Given the description of an element on the screen output the (x, y) to click on. 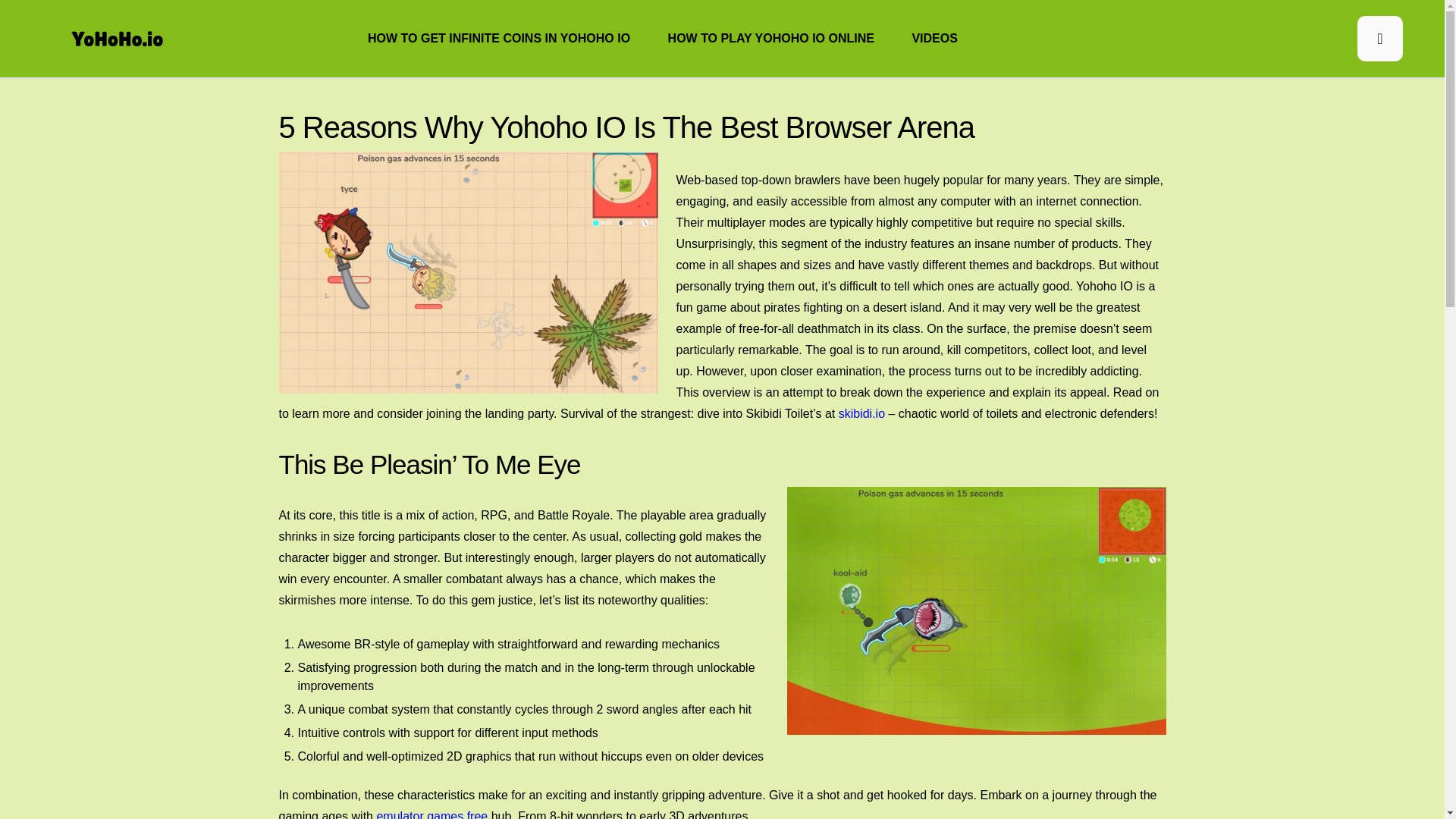
How to Get Infinite Coins in Yohoho IO (499, 38)
HOW TO GET INFINITE COINS IN YOHOHO IO (499, 38)
HOW TO PLAY YOHOHO IO ONLINE (771, 38)
How to Play Yohoho IO Online (771, 38)
VIDEOS (933, 38)
skibidi.io (861, 414)
Videos (933, 38)
emulator games free (431, 812)
